Given the description of an element on the screen output the (x, y) to click on. 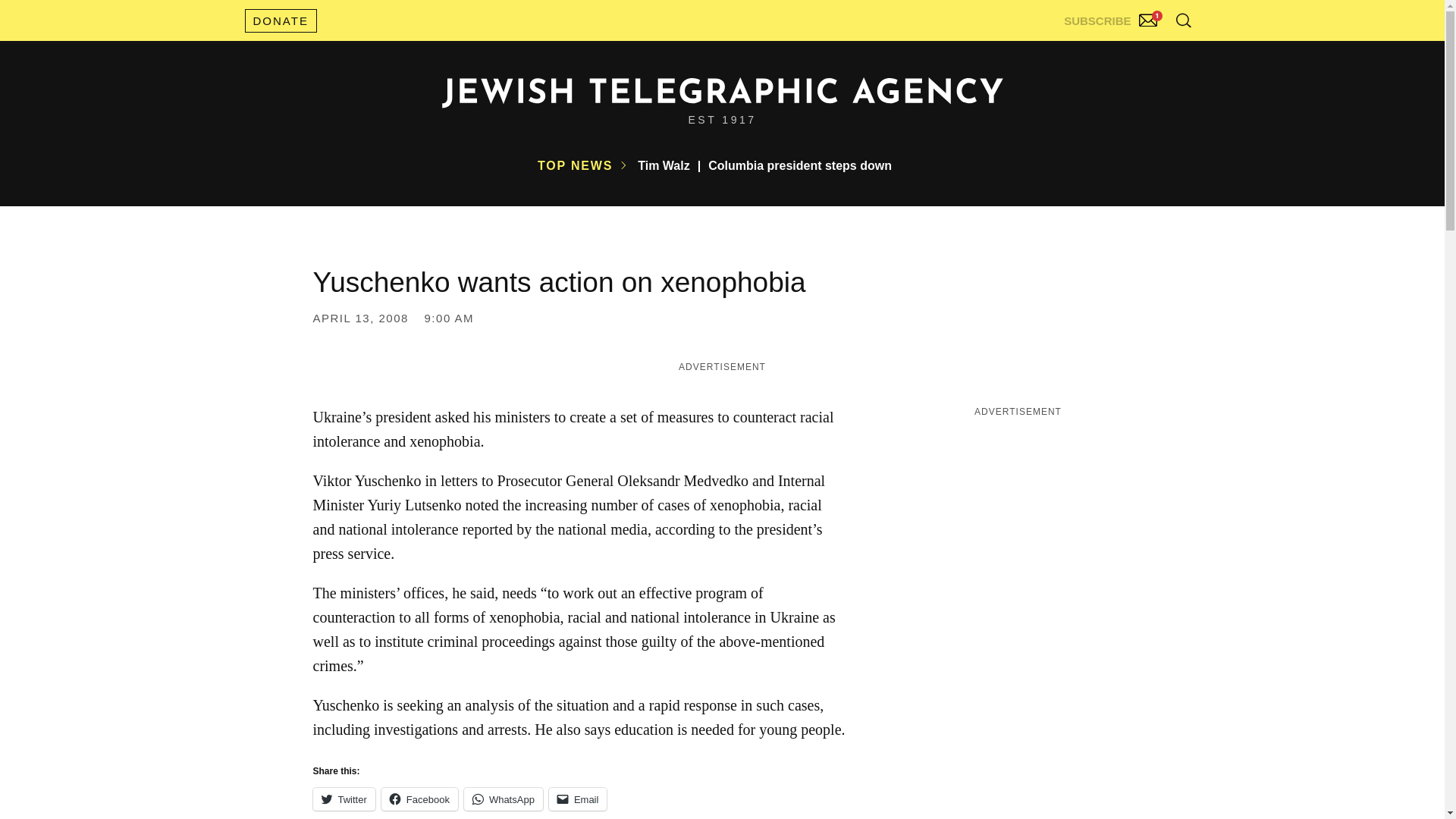
SEARCH TOGGLESEARCH TOGGLE (1182, 20)
Click to share on Twitter (343, 798)
Search (1144, 53)
Click to email a link to a friend (577, 798)
SUBSCRIBE (1112, 17)
Click to share on WhatsApp (503, 798)
Click to share on Facebook (419, 798)
DONATE (279, 20)
